Given the description of an element on the screen output the (x, y) to click on. 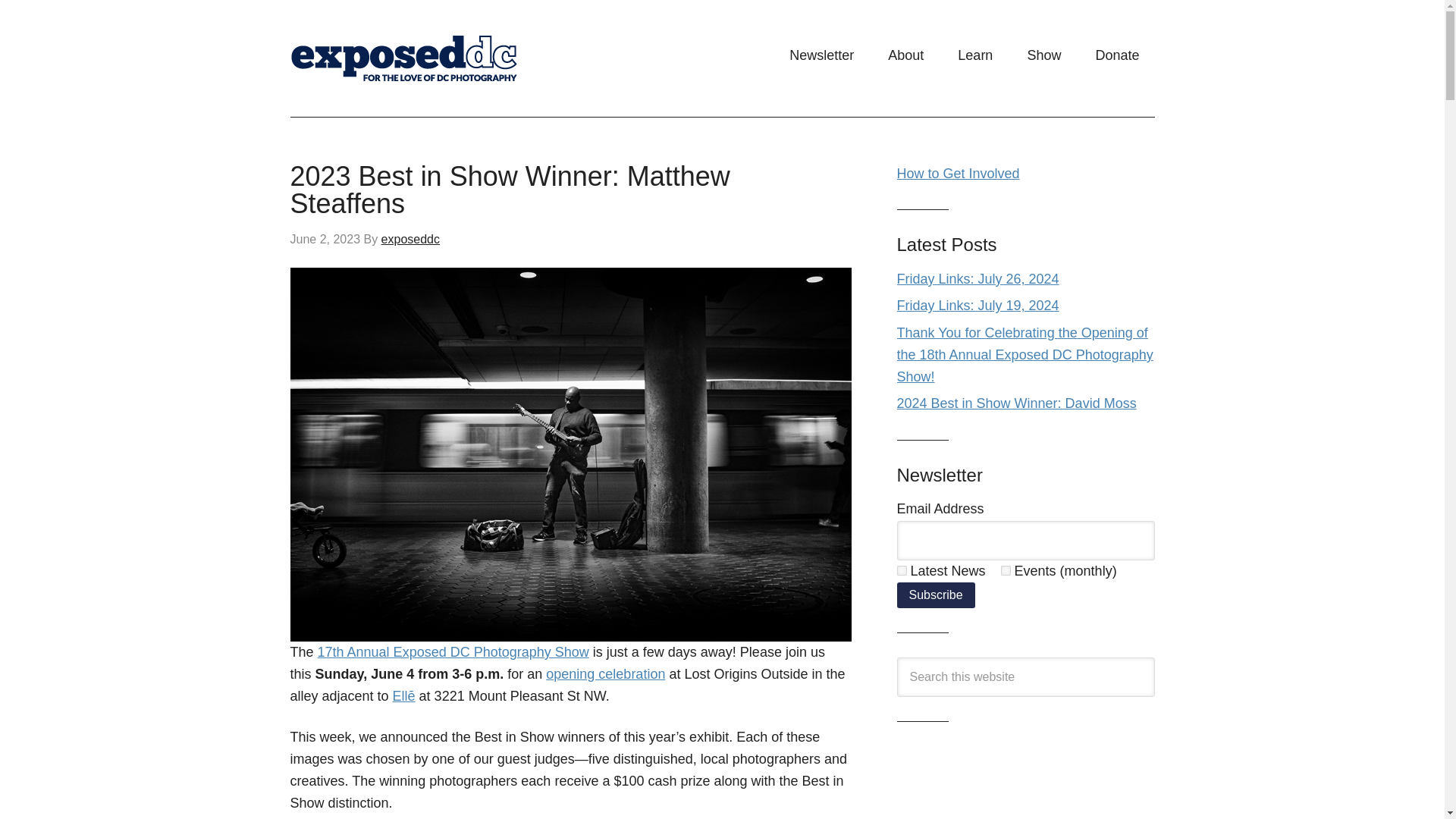
2 (1005, 570)
Newsletter (821, 55)
17th Annual Exposed DC Photography Show (453, 652)
2023 Best in Show Winner: Matthew Steaffens (509, 189)
opening celebration (605, 673)
Learn (974, 55)
Donate (1117, 55)
About (905, 55)
